Given the description of an element on the screen output the (x, y) to click on. 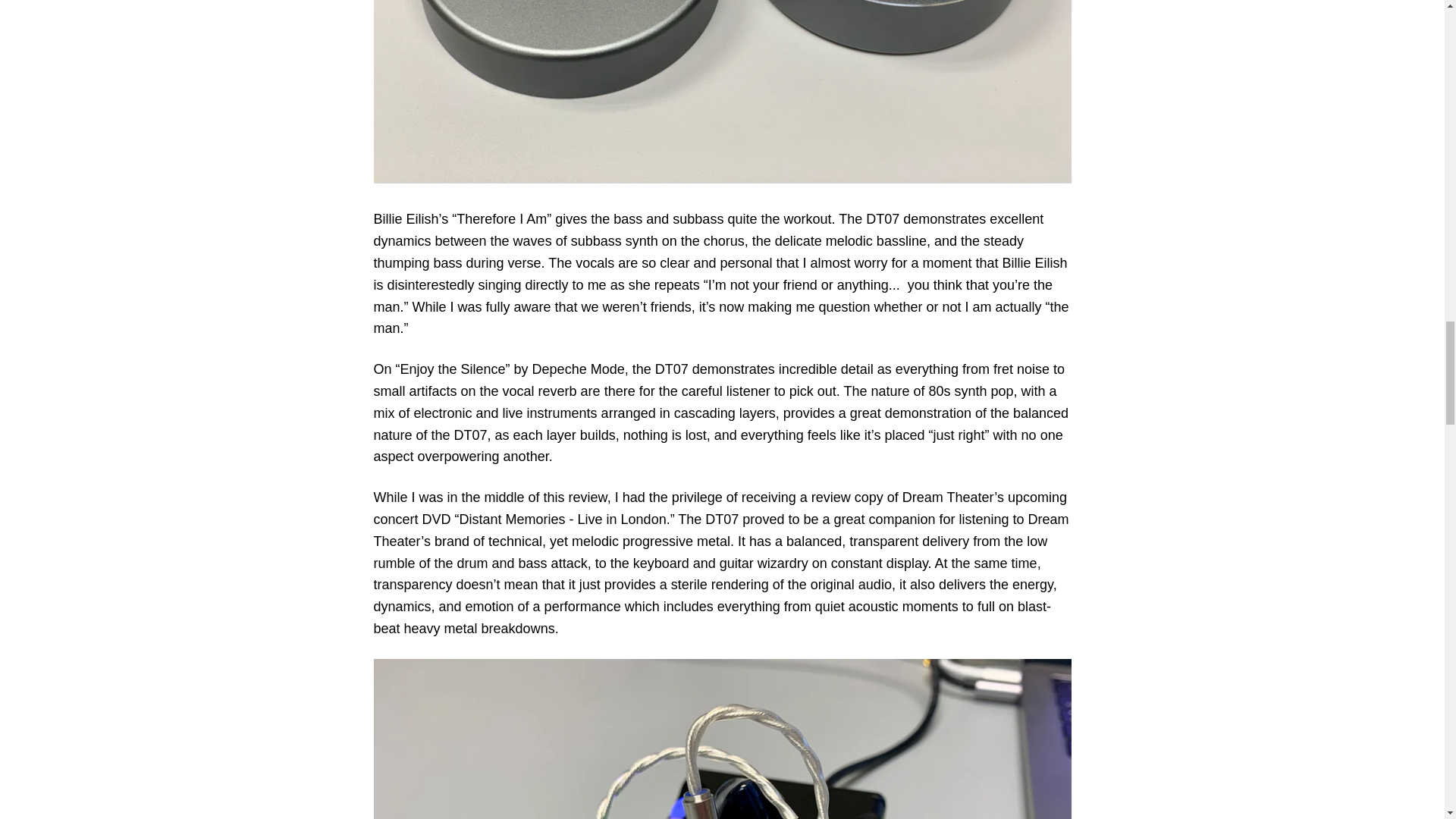
iBasso IT07 (721, 739)
iBasso IT07 (721, 91)
